Given the description of an element on the screen output the (x, y) to click on. 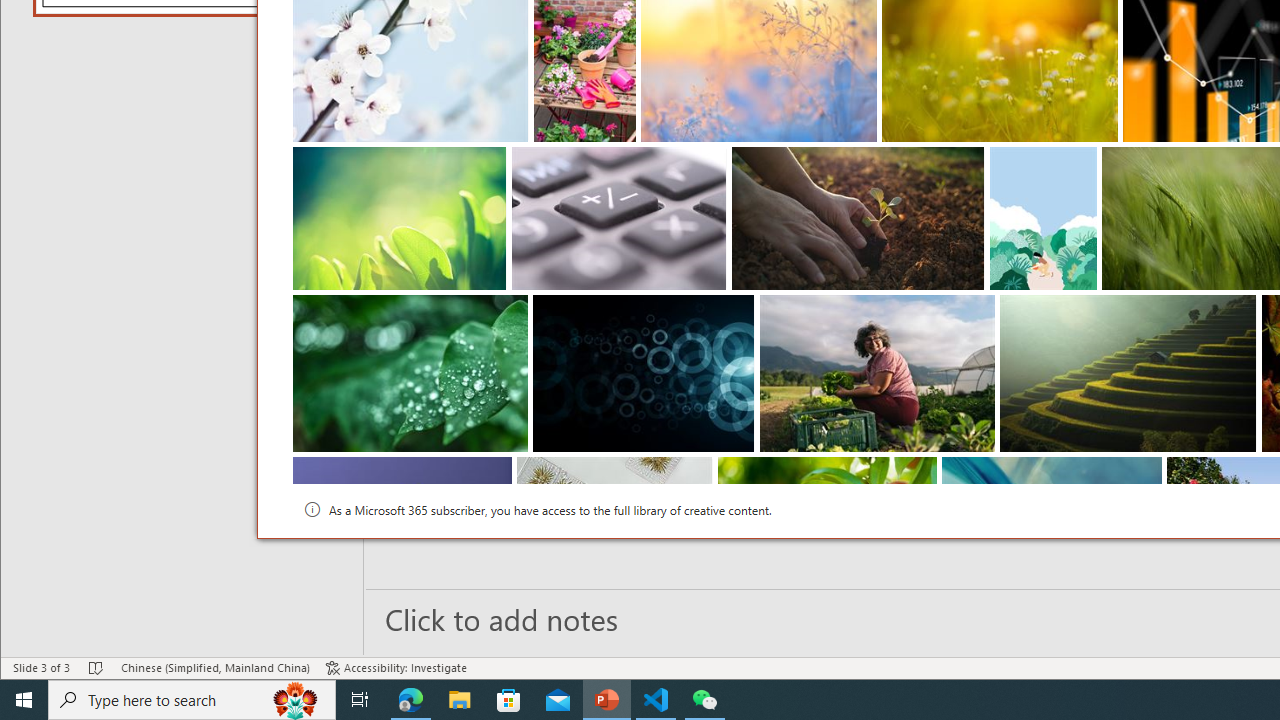
Type here to search (191, 699)
Thumbnail (1146, 471)
WeChat - 1 running window (704, 699)
Visual Studio Code - 1 running window (656, 699)
Microsoft Store (509, 699)
PowerPoint - 1 running window (607, 699)
Accessibility Checker Accessibility: Investigate (395, 668)
Spell Check No Errors (96, 668)
